Given the description of an element on the screen output the (x, y) to click on. 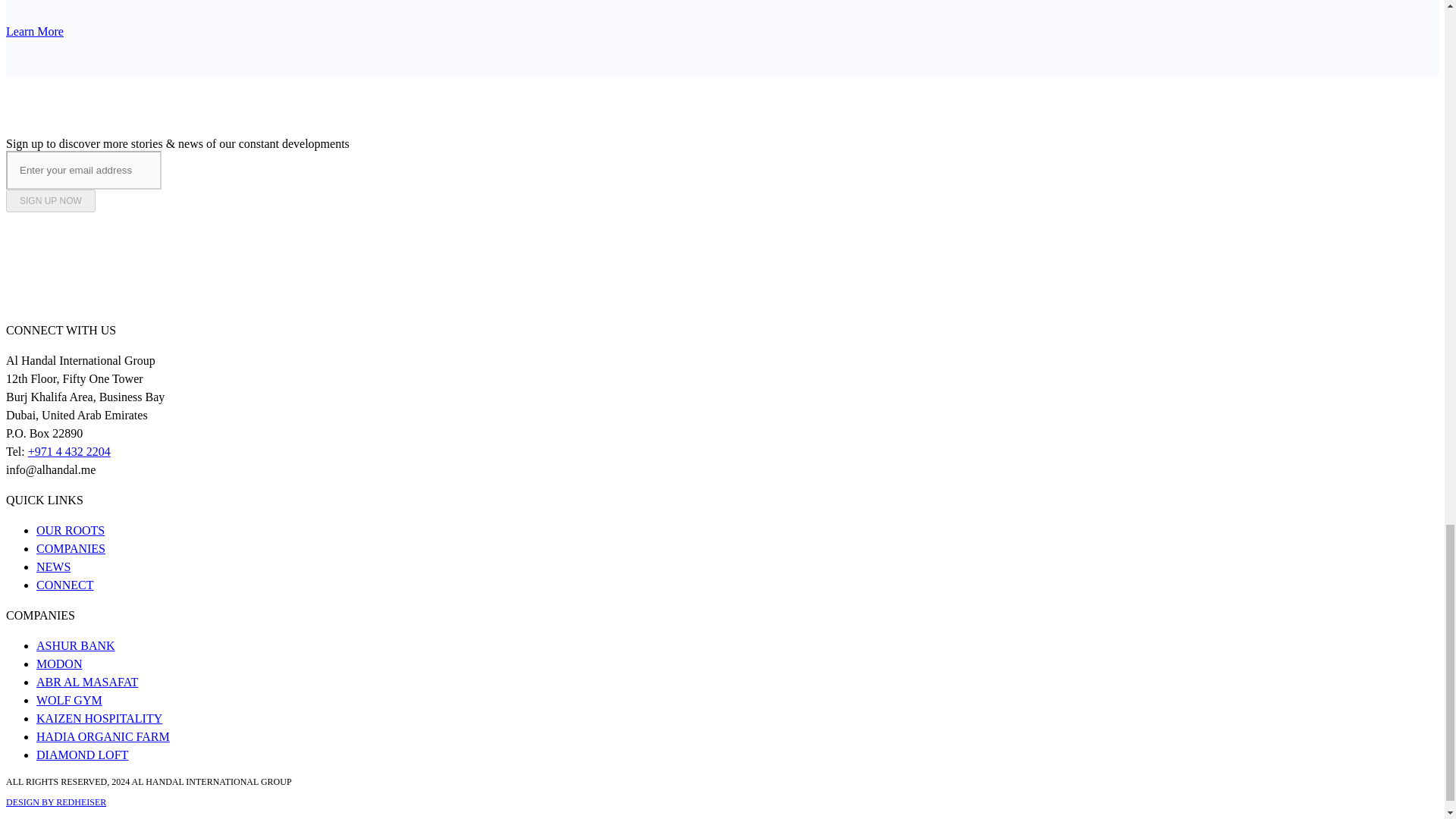
Learn More (34, 31)
NEWS (52, 566)
CONNECT (65, 584)
ASHUR BANK (75, 645)
HADIA ORGANIC FARM (103, 736)
WOLF GYM (68, 699)
SIGN UP NOW (50, 200)
KAIZEN HOSPITALITY (98, 717)
ABR AL MASAFAT (87, 681)
OUR ROOTS (70, 530)
MODON (58, 663)
COMPANIES (70, 548)
